Given the description of an element on the screen output the (x, y) to click on. 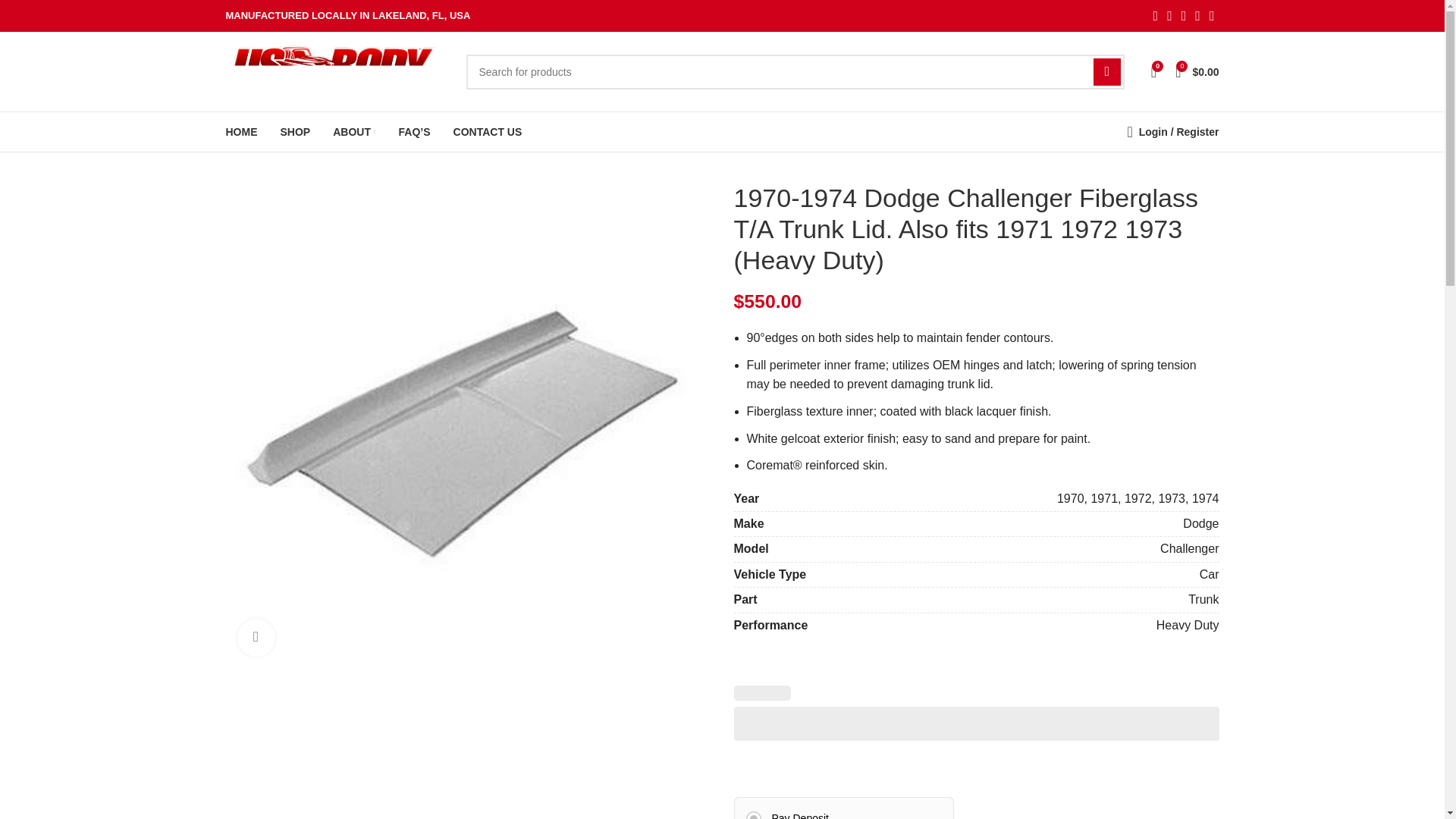
SEARCH (1107, 71)
ABOUT (354, 132)
Shopping cart (1196, 71)
SHOP (296, 132)
CONTACT US (487, 132)
Search for products (794, 71)
My account (1172, 132)
HOME (241, 132)
